Given the description of an element on the screen output the (x, y) to click on. 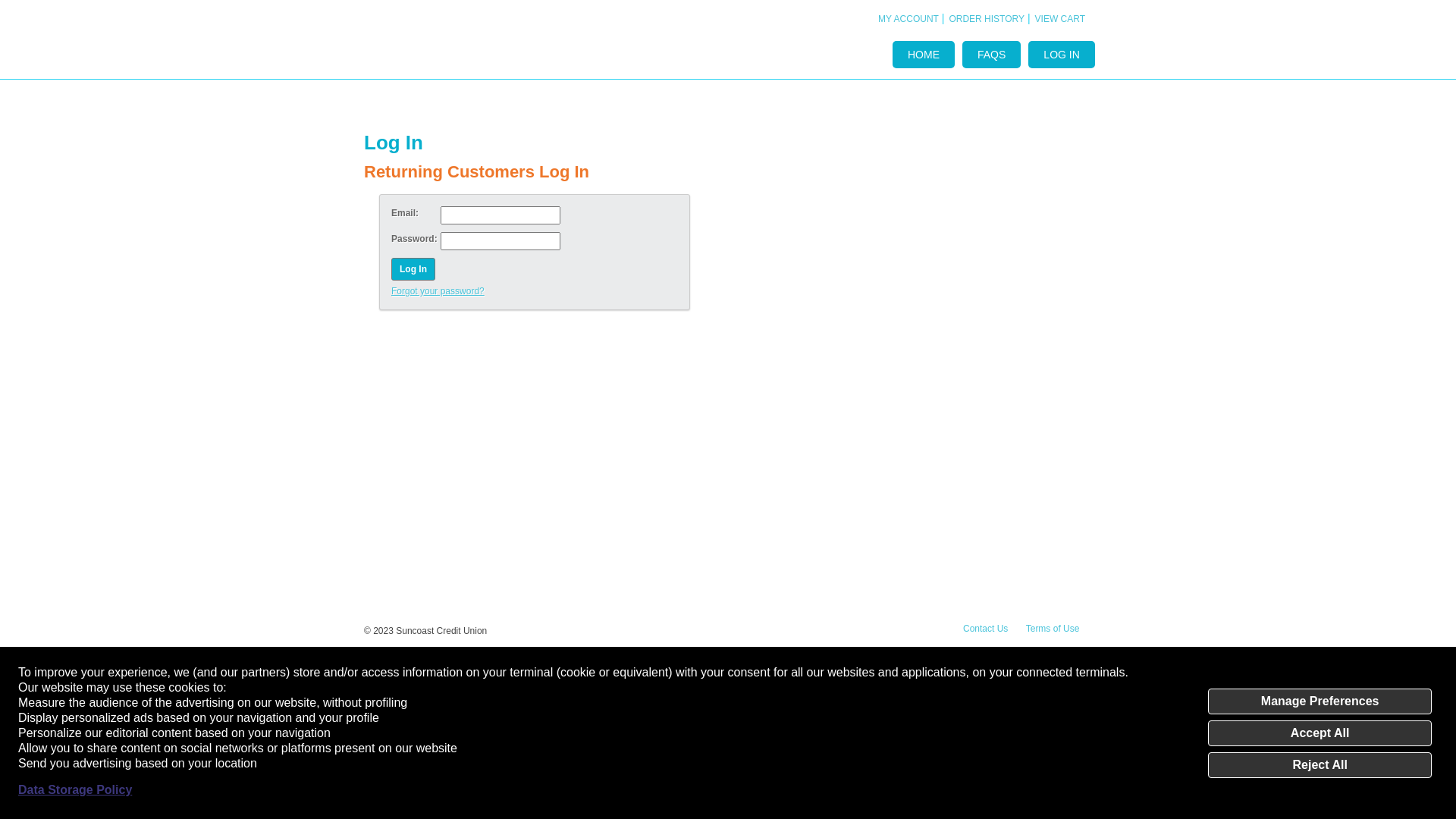
Manage Preferences Element type: text (1319, 701)
ORDER HISTORY Element type: text (986, 18)
MY ACCOUNT Element type: text (908, 18)
Forgot your password? Element type: text (534, 291)
Contact Us Element type: text (985, 628)
HOME Element type: text (923, 54)
Log In Element type: text (413, 268)
VIEW CART Element type: text (1060, 18)
LOG IN Element type: text (1061, 54)
Accept All Element type: text (1319, 733)
Reject All Element type: text (1319, 765)
Data Storage Policy Element type: text (74, 789)
Terms of Use Element type: text (1052, 628)
FAQS Element type: text (991, 54)
